Given the description of an element on the screen output the (x, y) to click on. 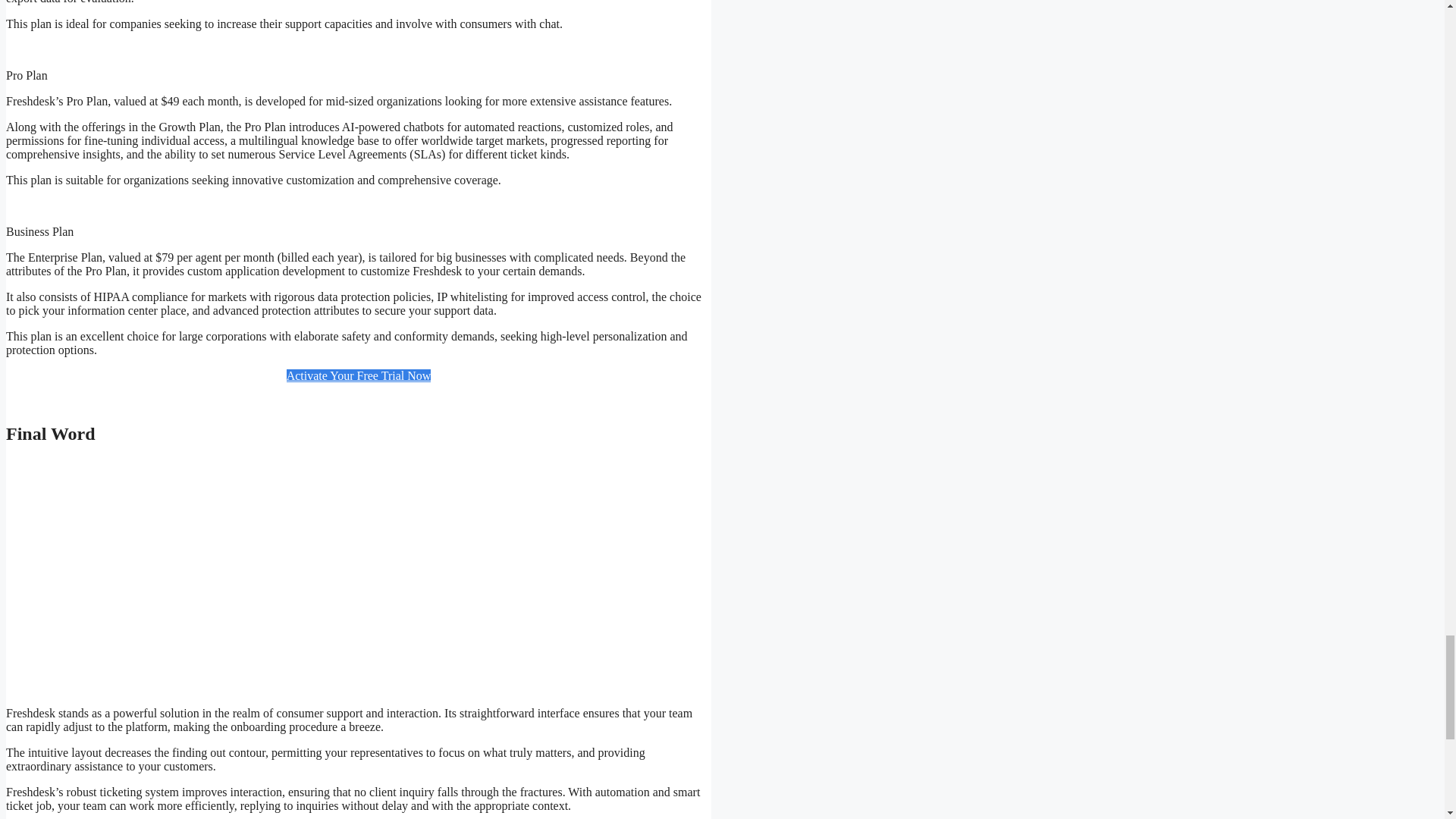
Activate Your Free Trial Now (358, 375)
